Given the description of an element on the screen output the (x, y) to click on. 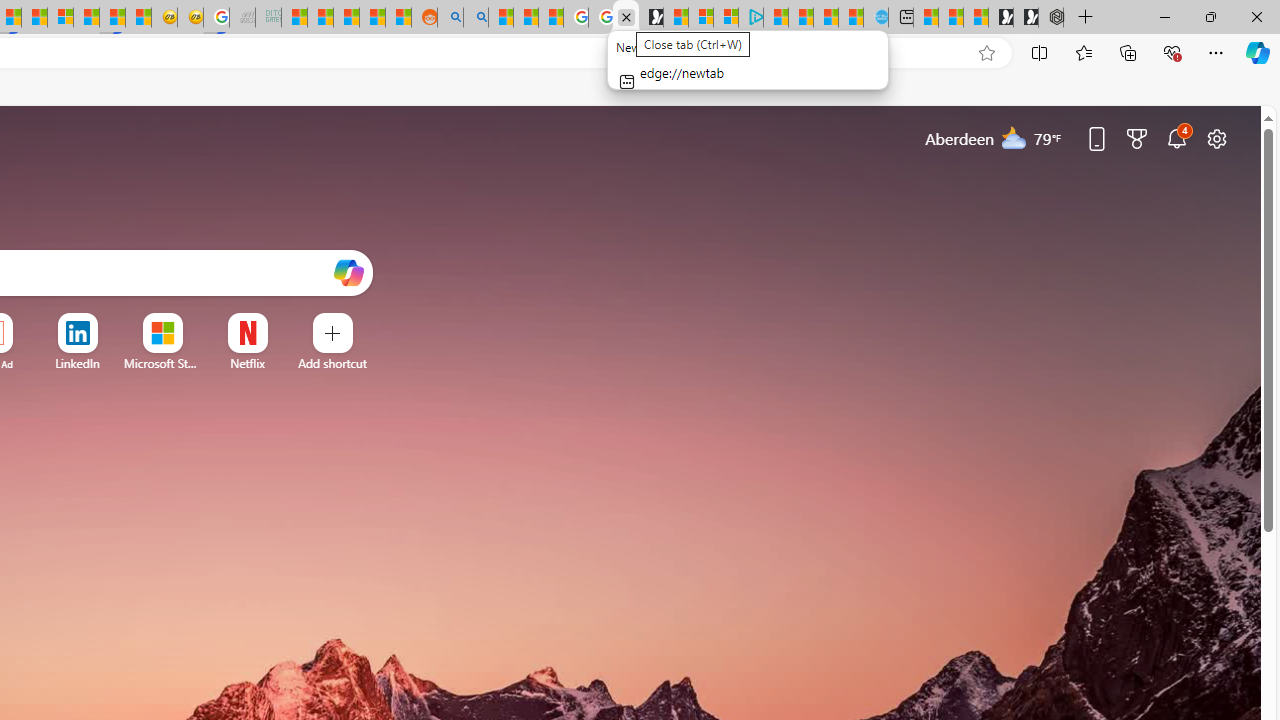
Microsoft Start Gaming (650, 17)
14 Common Myths Debunked By Scientific Facts (34, 17)
Add a site (332, 363)
Microsoft rewards (1137, 138)
LinkedIn (77, 363)
Netflix (247, 363)
Utah sues federal government - Search (475, 17)
Microsoft account | Privacy (726, 17)
